Given the description of an element on the screen output the (x, y) to click on. 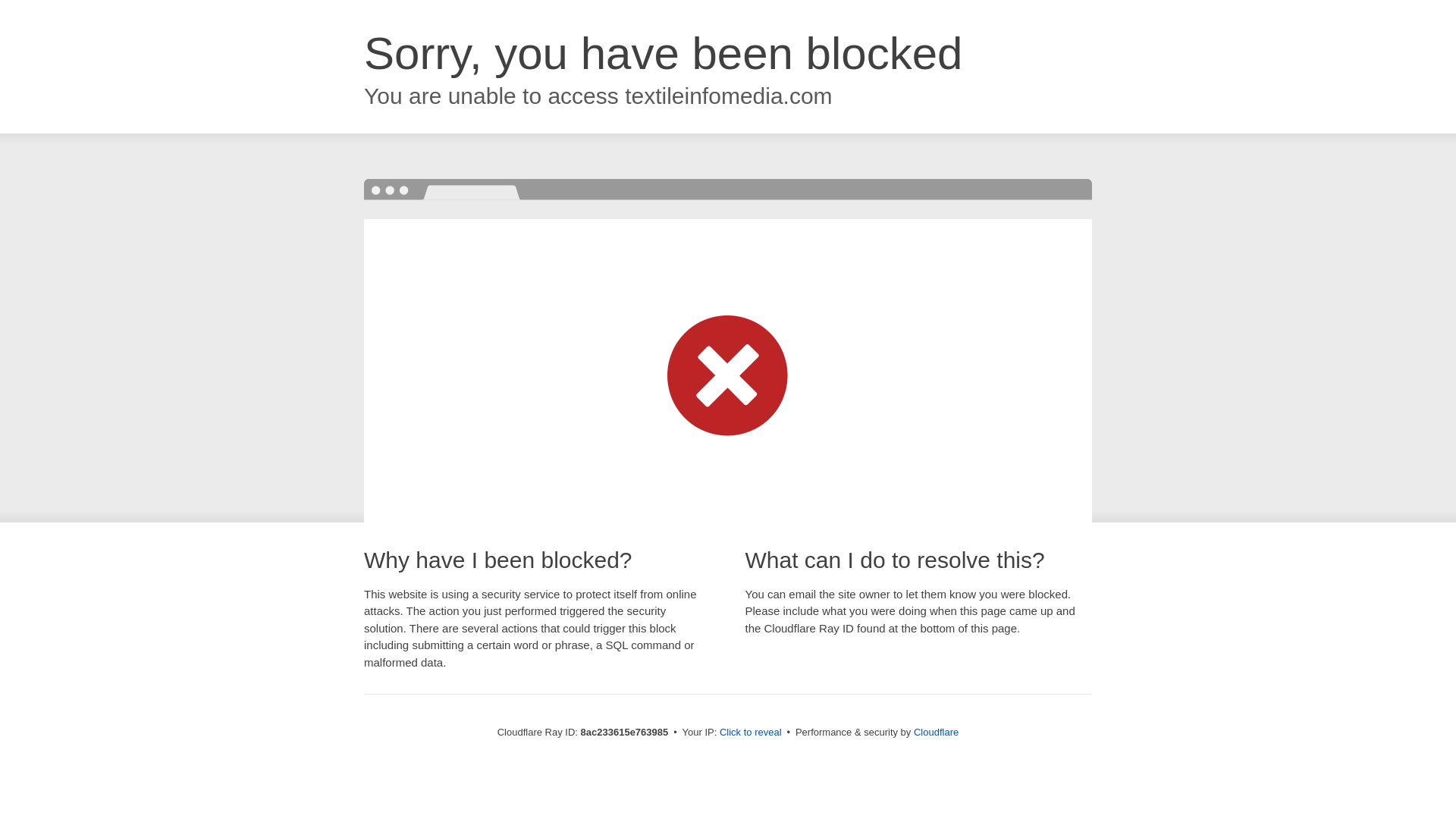
Cloudflare (936, 731)
Click to reveal (750, 732)
